Given the description of an element on the screen output the (x, y) to click on. 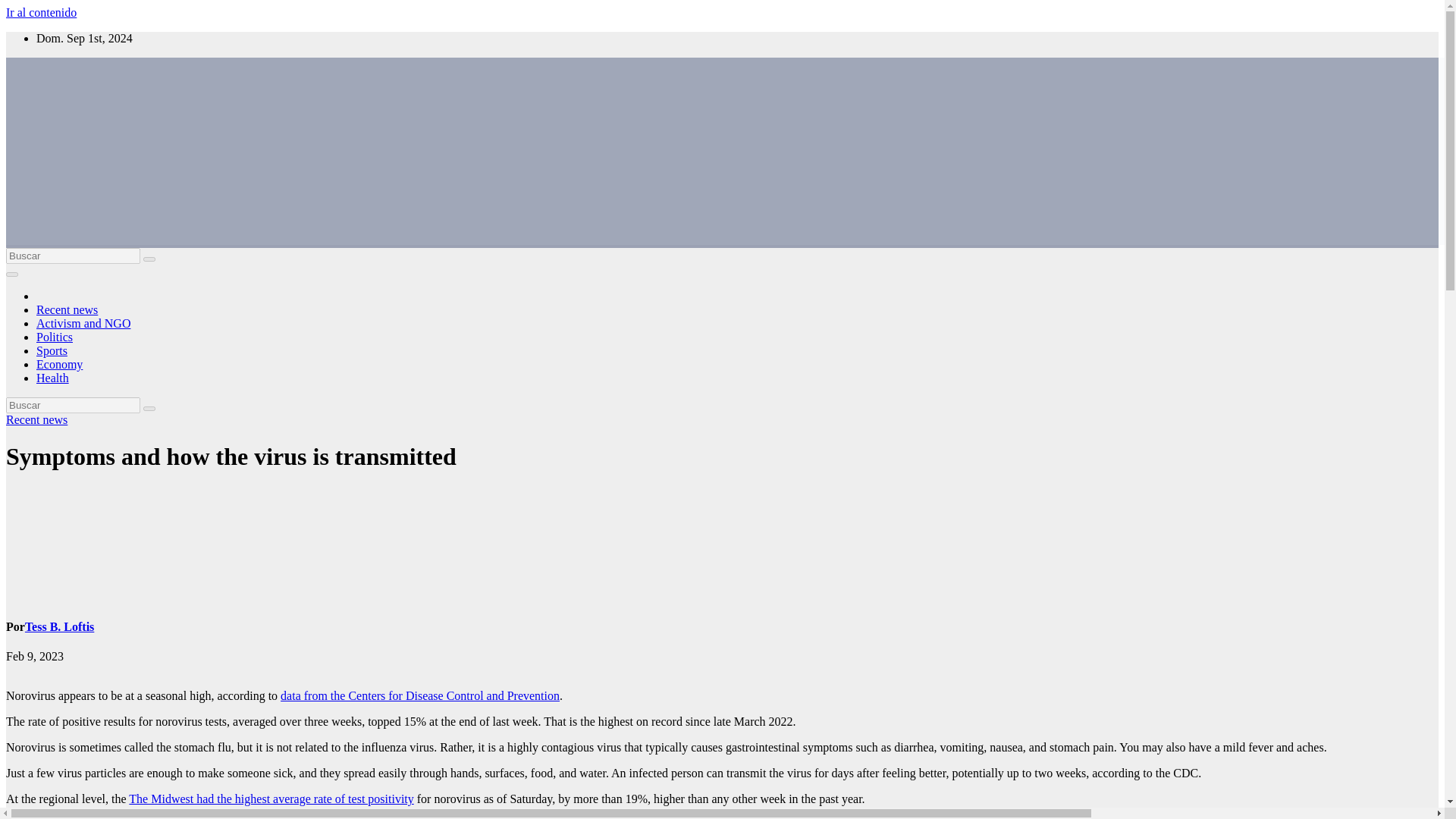
Recent news (66, 309)
Health (52, 377)
Recent news (35, 419)
data from the Centers for Disease Control and Prevention (420, 695)
Ir al contenido (41, 11)
Activism and NGO (83, 323)
Symptoms and how the virus is transmitted (231, 456)
Sports (51, 350)
Activism and NGO (83, 323)
The Midwest had the highest average rate of test positivity (271, 798)
